Given the description of an element on the screen output the (x, y) to click on. 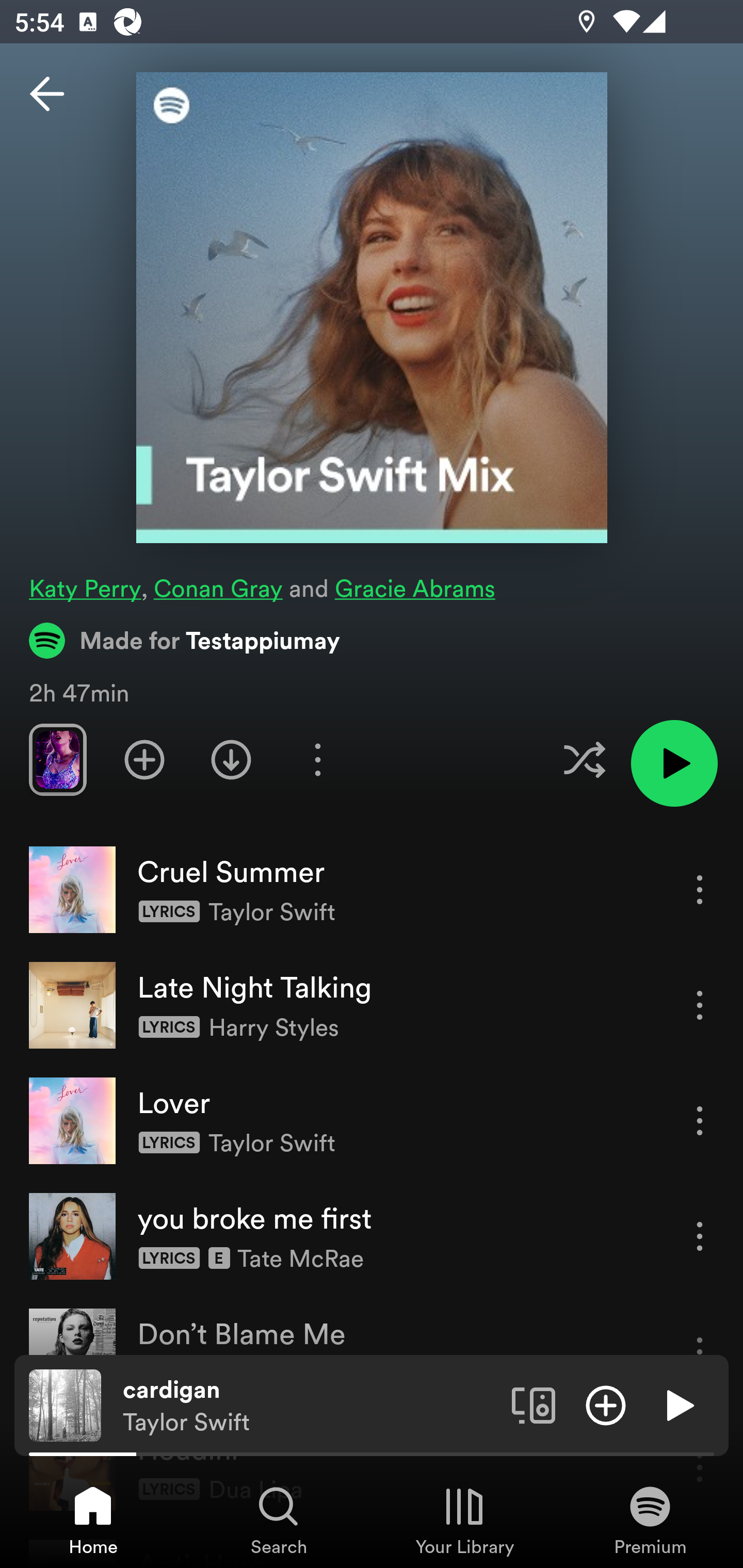
Back (46, 93)
Made for Testappiumay (184, 640)
Add playlist to Your Library (144, 759)
Download (230, 759)
More options for playlist Taylor Swift Mix (317, 759)
Enable shuffle for this playlist (583, 759)
Play playlist (674, 763)
More options for song Cruel Summer (699, 889)
More options for song Late Night Talking (699, 1004)
More options for song Lover (699, 1120)
More options for song you broke me first (699, 1236)
cardigan Taylor Swift (309, 1405)
The cover art of the currently playing track (64, 1404)
Connect to a device. Opens the devices menu (533, 1404)
Add item (605, 1404)
Play (677, 1404)
Home, Tab 1 of 4 Home Home (92, 1519)
Search, Tab 2 of 4 Search Search (278, 1519)
Your Library, Tab 3 of 4 Your Library Your Library (464, 1519)
Premium, Tab 4 of 4 Premium Premium (650, 1519)
